Given the description of an element on the screen output the (x, y) to click on. 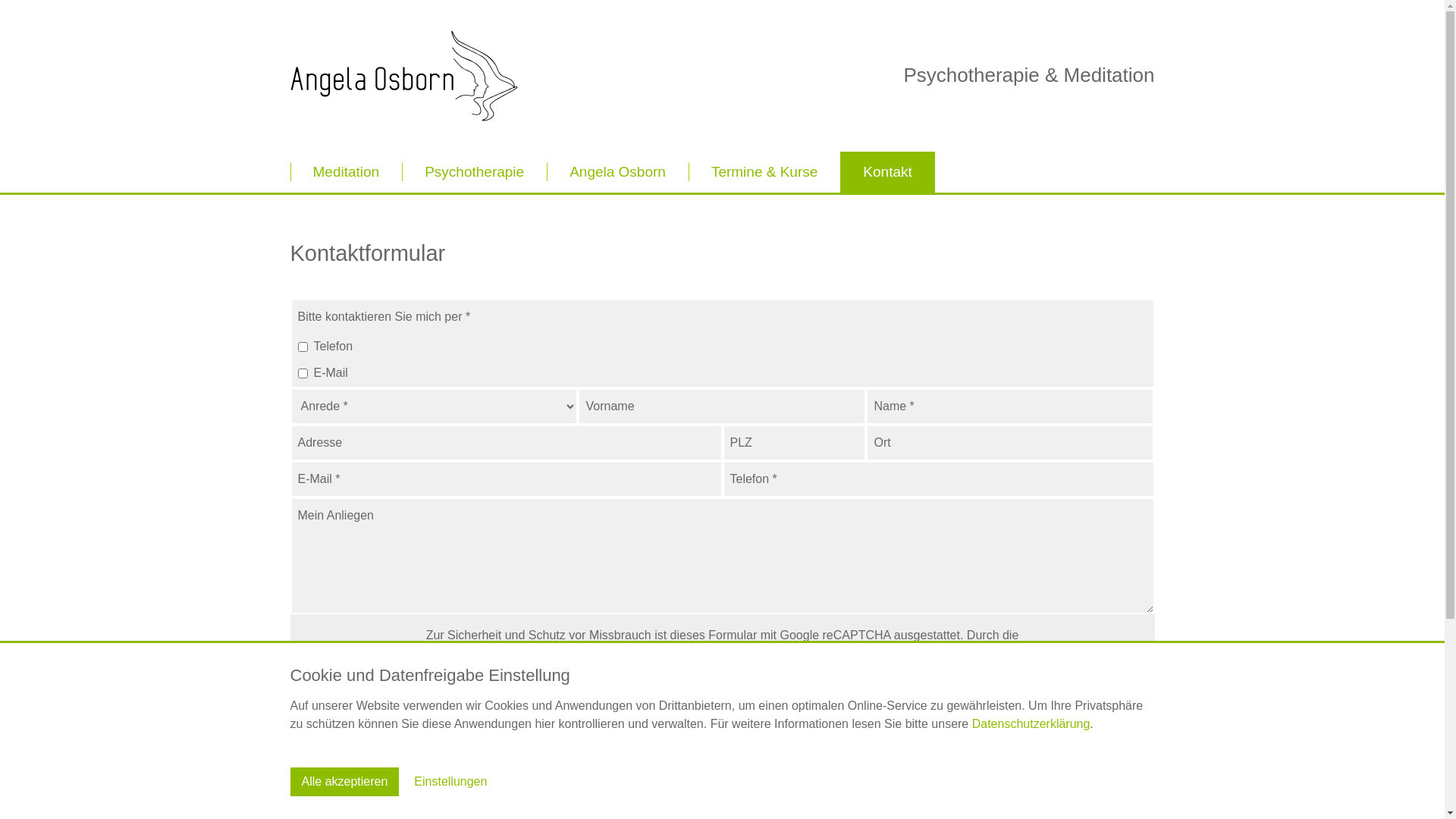
Mehr erfahren Element type: text (722, 689)
Angela Osborn Element type: hover (403, 75)
Alle akzeptieren Element type: text (343, 781)
Kontakt Element type: text (887, 171)
reCAPTCHA aktivieren Element type: text (722, 735)
Psychotherapie Element type: text (473, 171)
Meditation Element type: text (345, 171)
Termine & Kurse Element type: text (764, 171)
Einstellungen Element type: text (450, 781)
Angela Osborn Element type: text (617, 171)
